Given the description of an element on the screen output the (x, y) to click on. 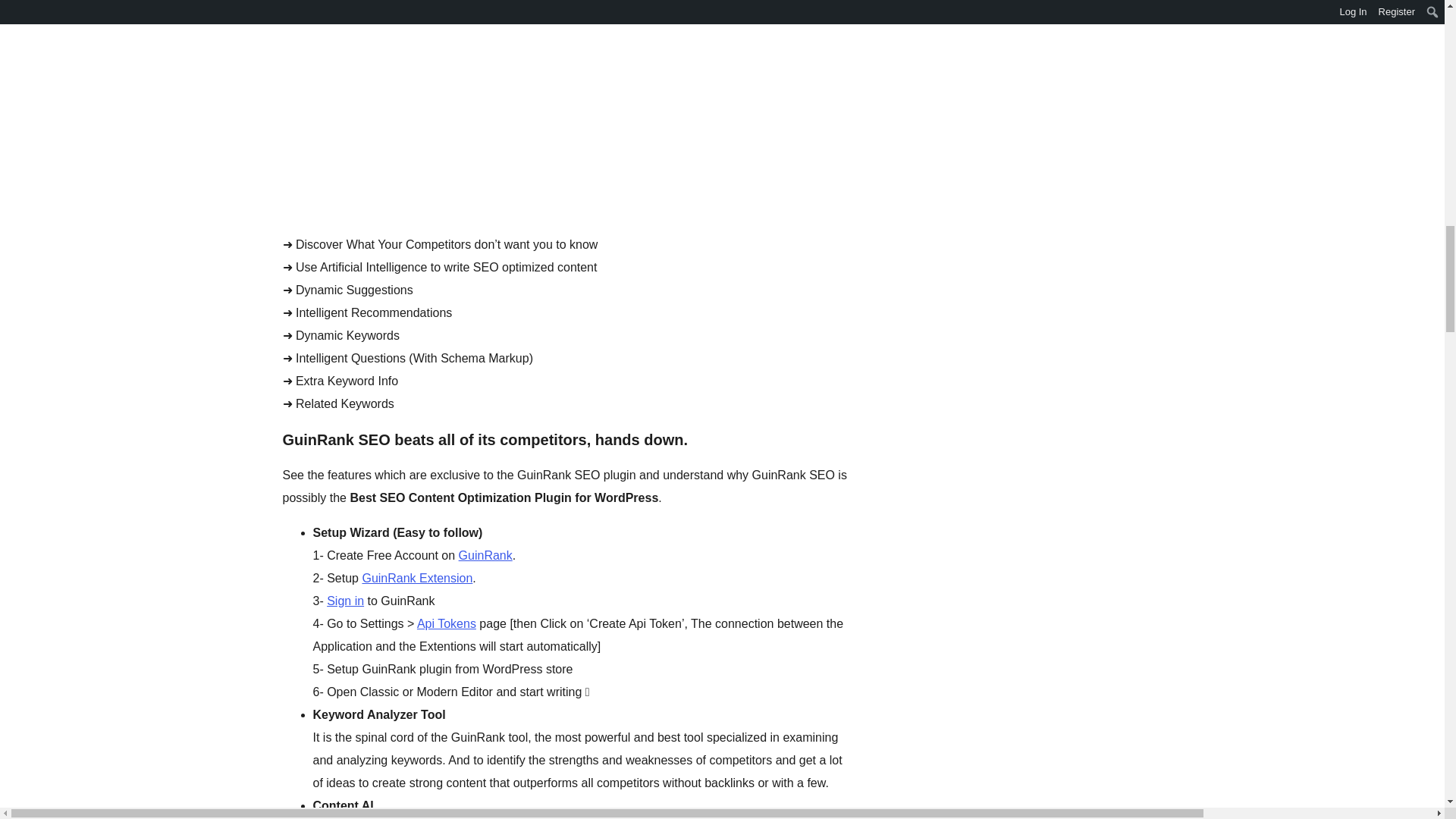
GuinRank (485, 554)
Api Tokens (446, 623)
GuinRank Extension (416, 577)
Sign in (345, 600)
